Given the description of an element on the screen output the (x, y) to click on. 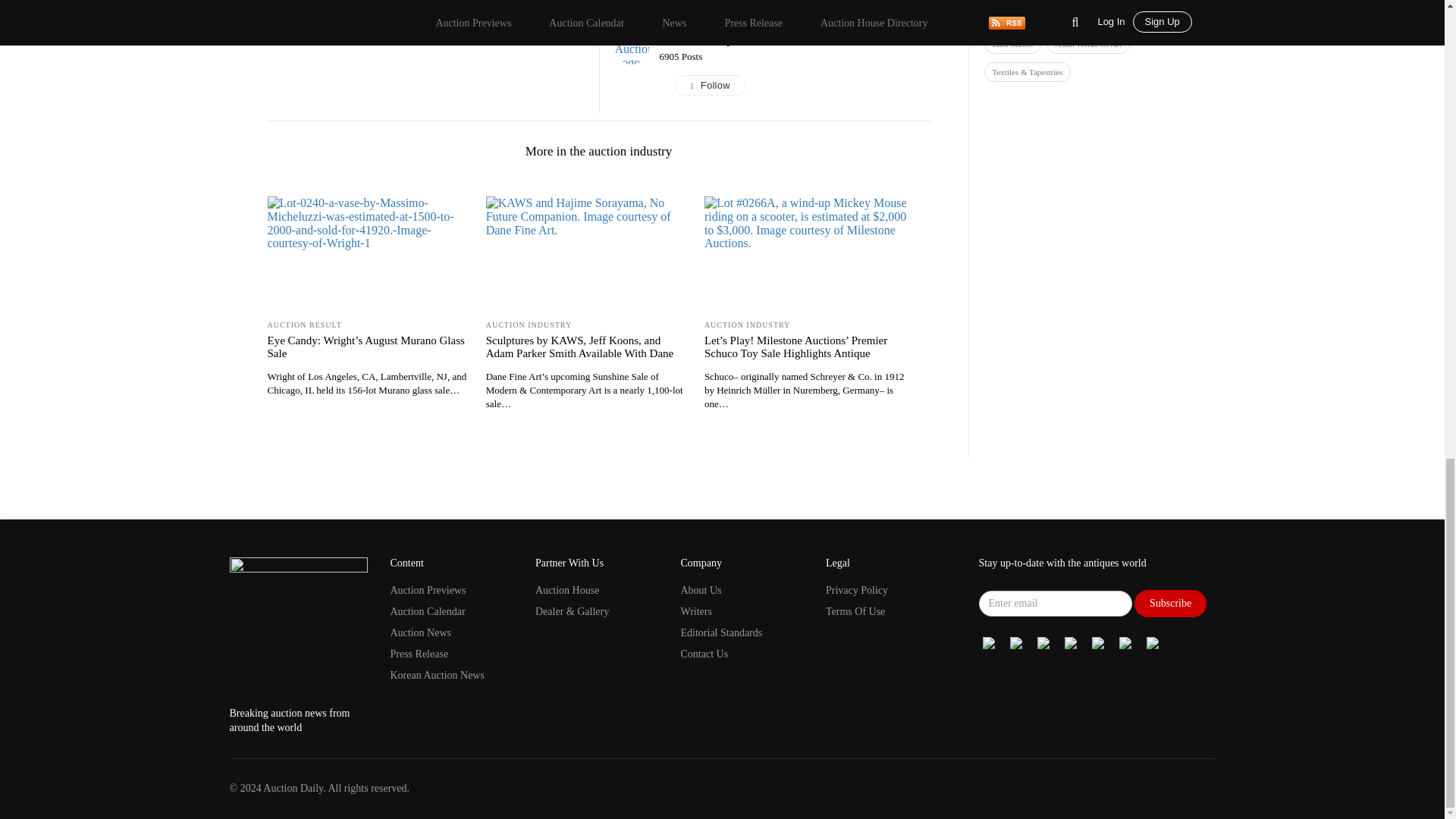
Subscribe (1170, 602)
Google News (988, 641)
Pinterest (1125, 641)
View Media Source (696, 38)
Facebook (1016, 641)
Thread (1097, 641)
Instagram (1070, 641)
AuctionDaily (696, 38)
Follow (795, 85)
